Given the description of an element on the screen output the (x, y) to click on. 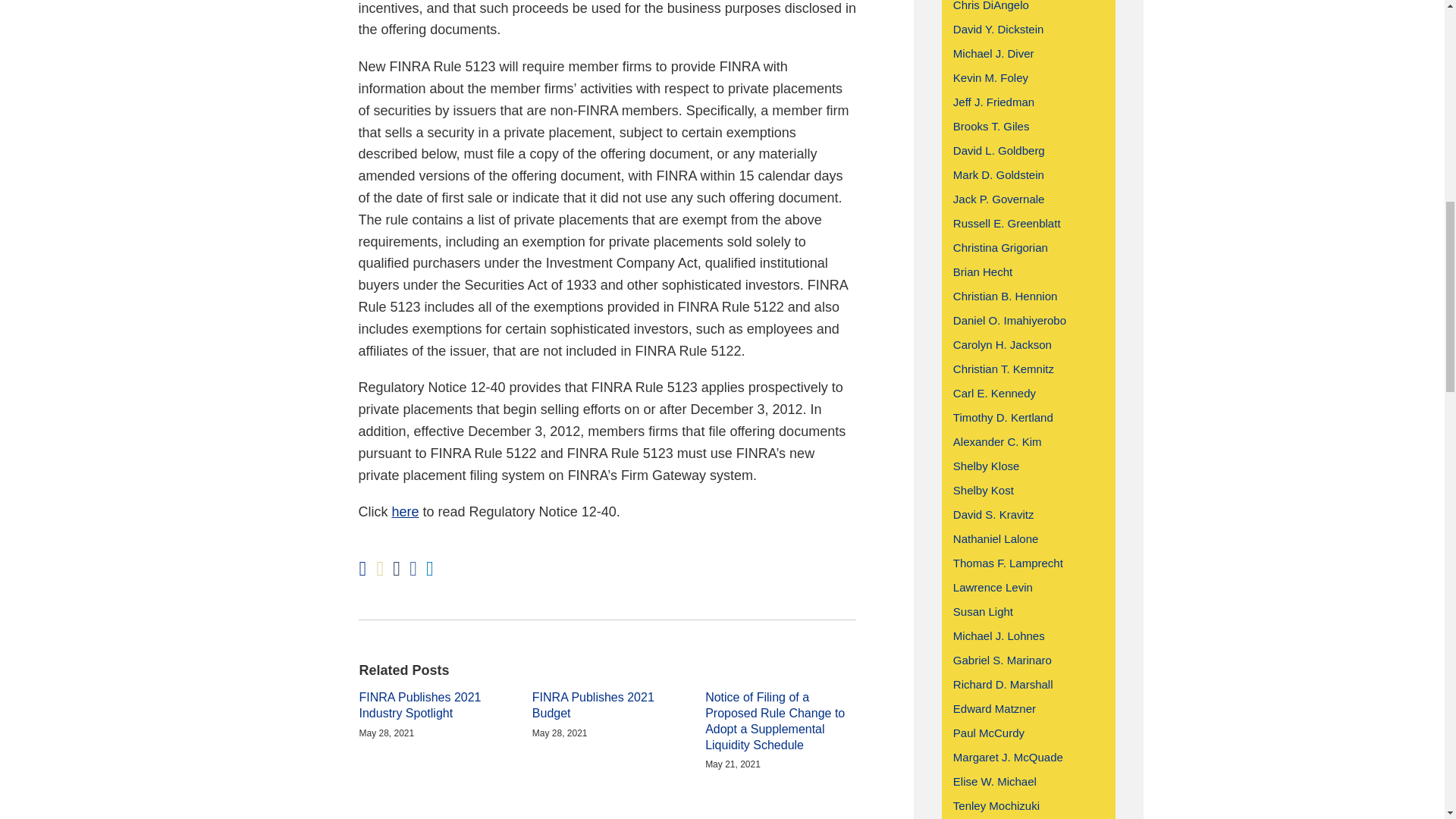
Like this post (412, 568)
FINRA Publishes 2021 Budget (607, 705)
Tweet this post (396, 568)
Print: (362, 568)
here (405, 511)
Email this post (379, 568)
Share this post on LinkedIn (429, 568)
FINRA Publishes 2021 Industry Spotlight (434, 705)
